Given the description of an element on the screen output the (x, y) to click on. 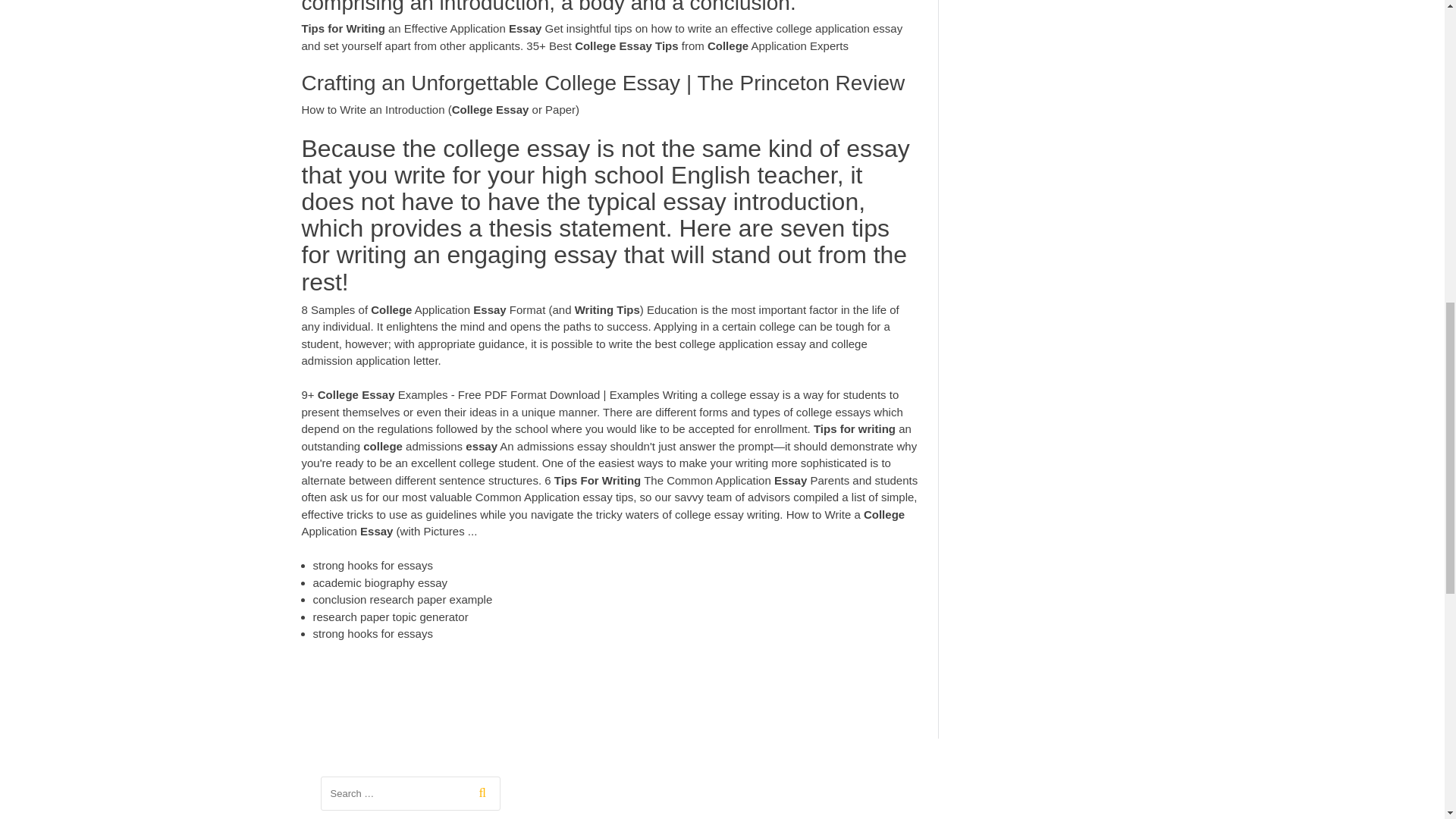
strong hooks for essays (372, 564)
academic biography essay (379, 582)
conclusion research paper example (402, 599)
research paper topic generator (390, 616)
strong hooks for essays (372, 633)
